Given the description of an element on the screen output the (x, y) to click on. 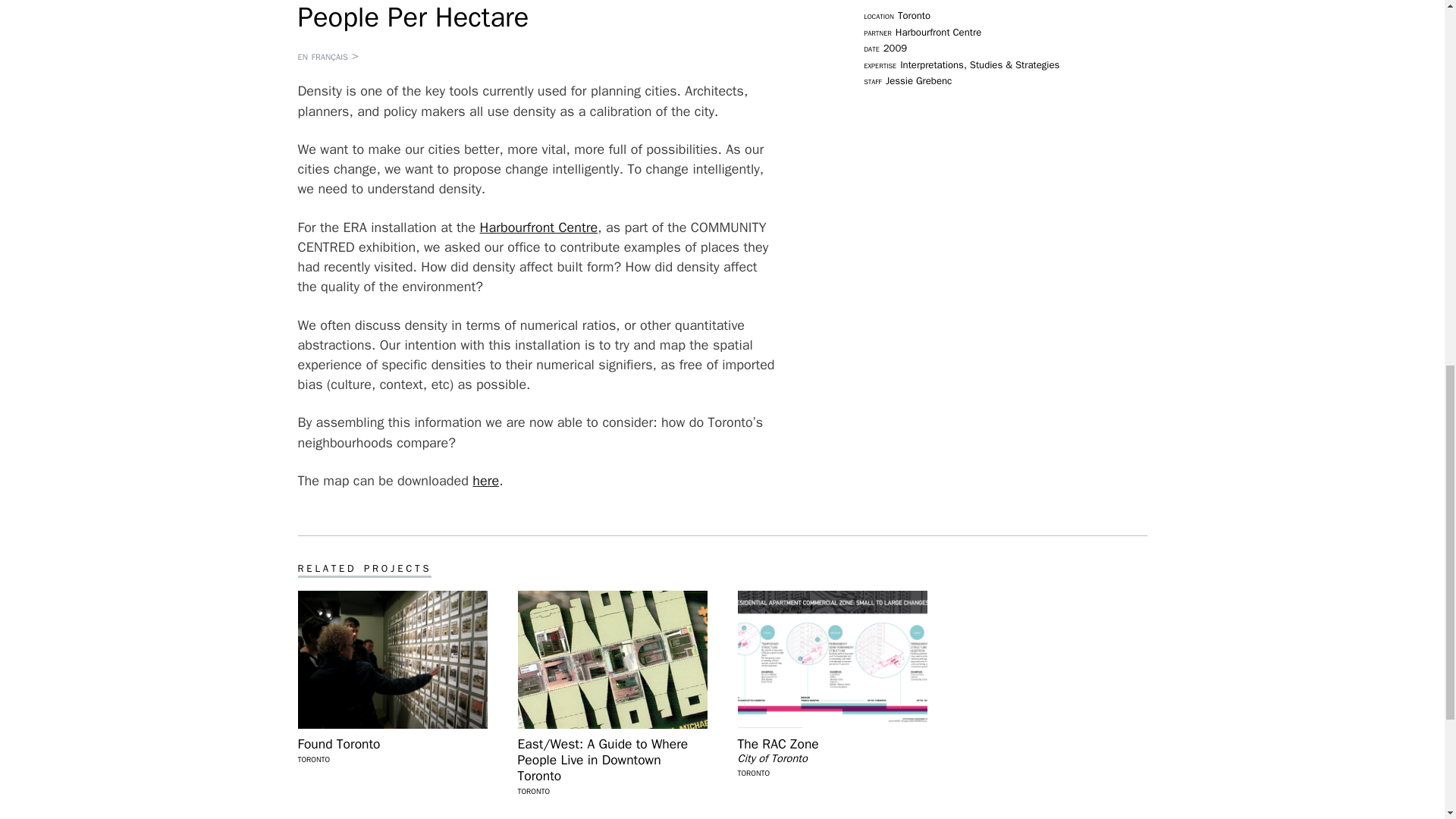
People per Hectare (485, 480)
